Given the description of an element on the screen output the (x, y) to click on. 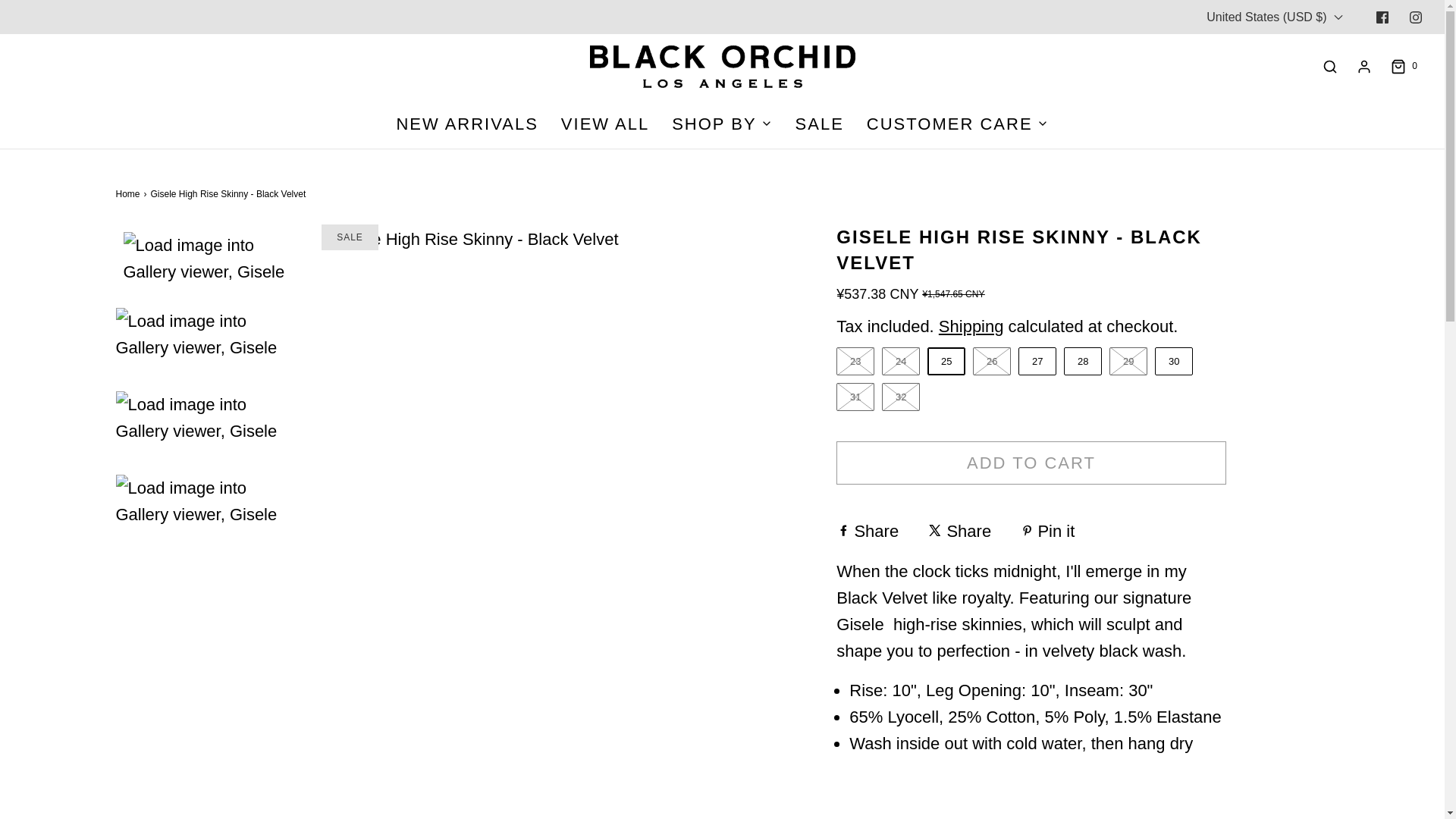
Back to the frontpage (128, 194)
Cart (1403, 66)
Search (1329, 66)
Log in (1364, 66)
